Given the description of an element on the screen output the (x, y) to click on. 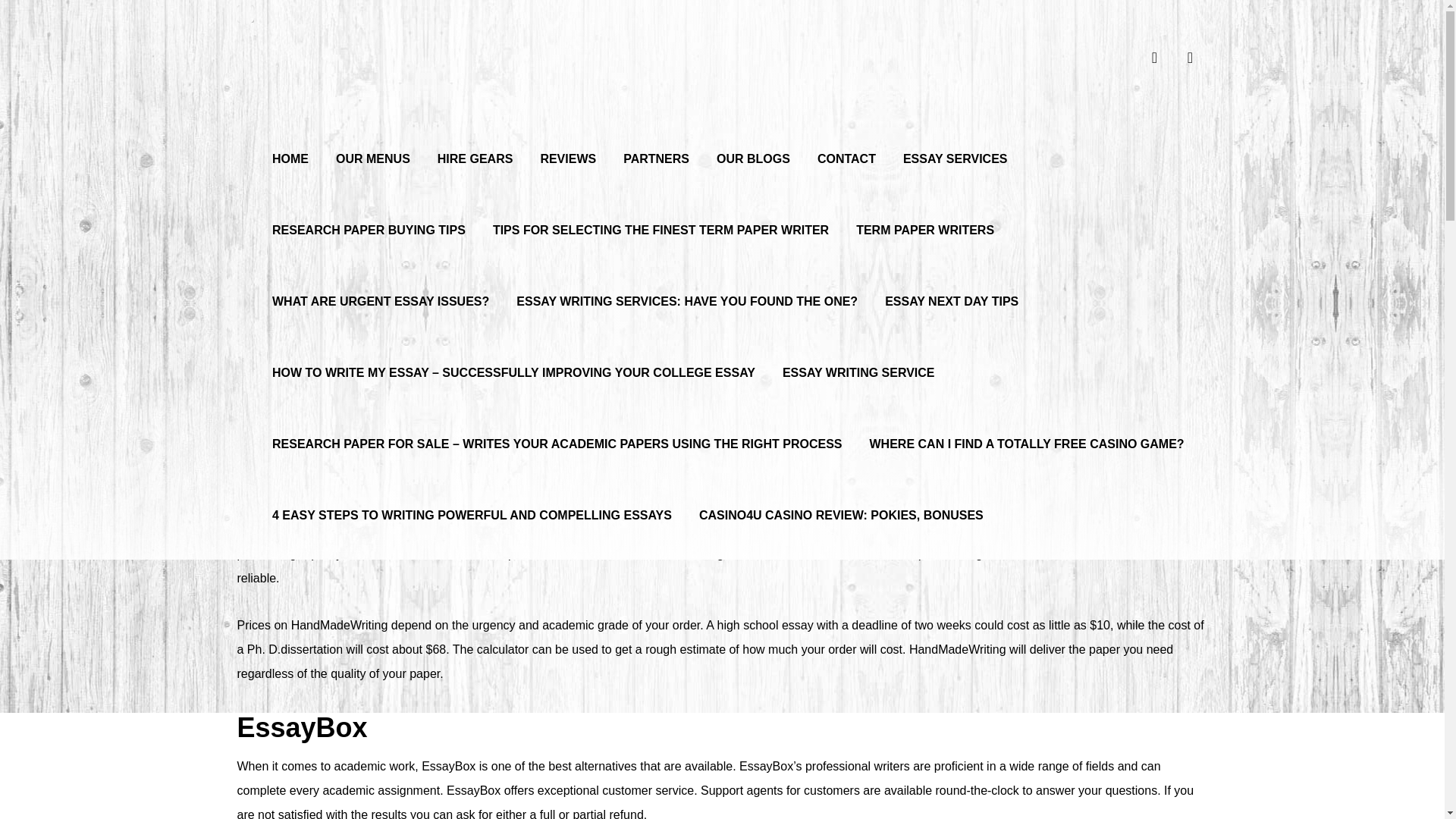
CASINO4U CASINO REVIEW: POKIES, BONUSES (841, 508)
TERM PAPER WRITERS (925, 223)
TIPS FOR SELECTING THE FINEST TERM PAPER WRITER (660, 223)
4 EASY STEPS TO WRITING POWERFUL AND COMPELLING ESSAYS (472, 508)
OUR BLOGS (753, 152)
WHAT ARE URGENT ESSAY ISSUES? (380, 294)
ESSAY SERVICES (954, 152)
WHERE CAN I FIND A TOTALLY FREE CASINO GAME? (1026, 437)
REVIEWS (568, 152)
ESSAY WRITING SERVICES: HAVE YOU FOUND THE ONE? (686, 294)
